Given the description of an element on the screen output the (x, y) to click on. 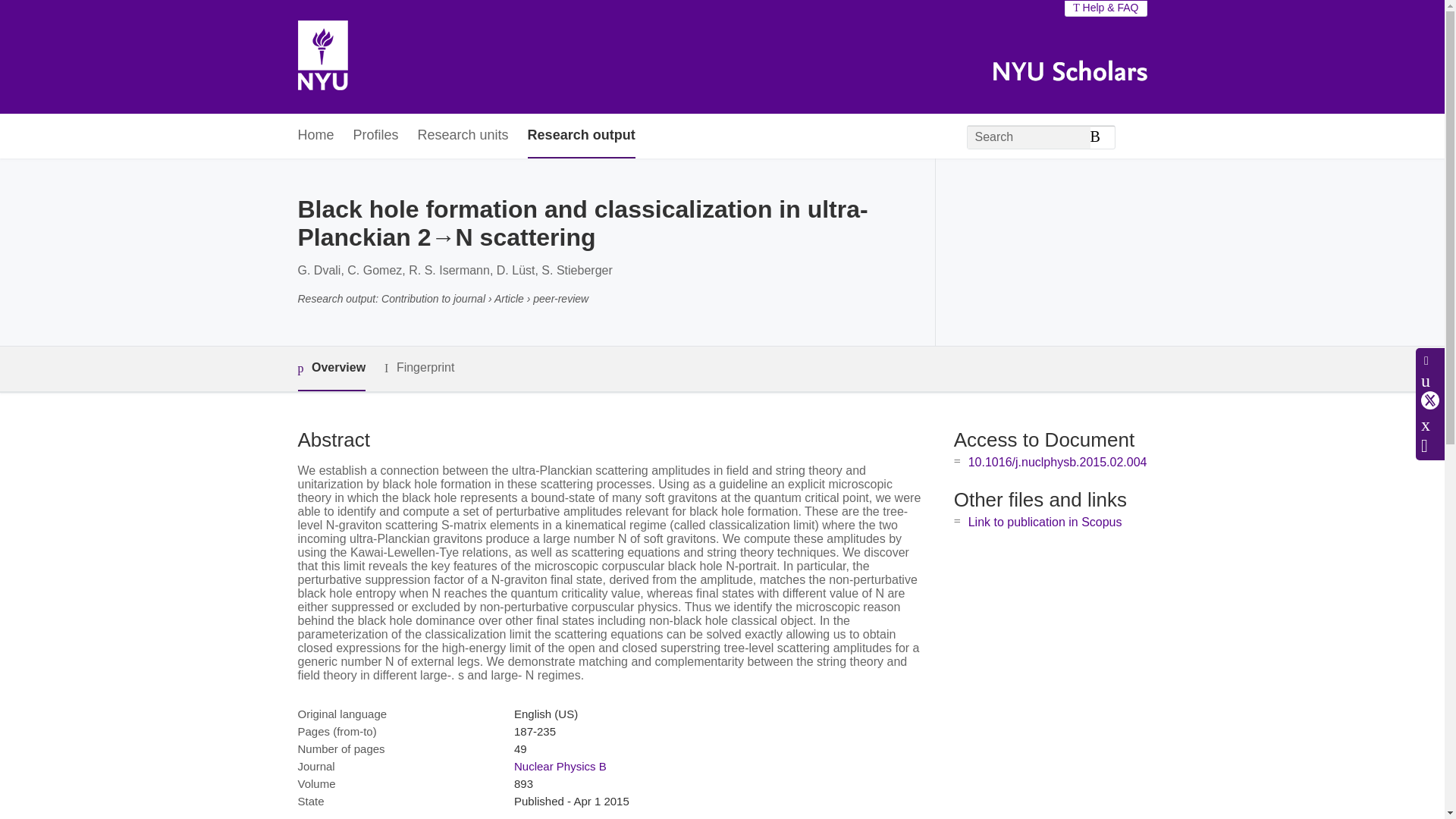
Link to publication in Scopus (1045, 521)
Research units (462, 135)
Overview (331, 368)
Profiles (375, 135)
Research output (580, 135)
Nuclear Physics B (560, 766)
Fingerprint (419, 367)
